Given the description of an element on the screen output the (x, y) to click on. 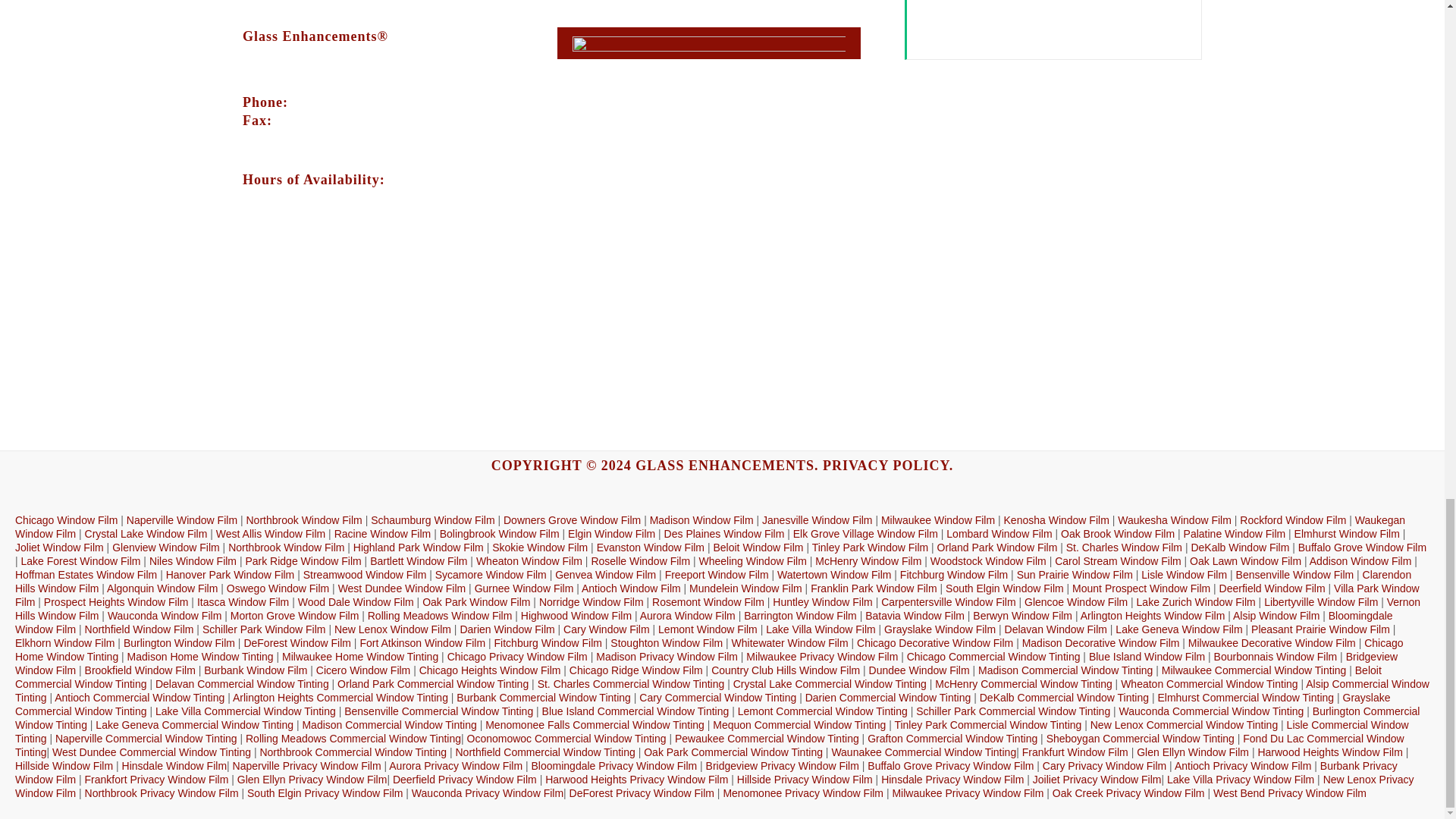
Milwaukee Window Film (937, 520)
Rockford Window Film (1292, 520)
Naperville Window Film (181, 520)
Kenosha Window Film (1056, 520)
Janesville Window Film (816, 520)
Schaumburg Window Film (433, 520)
Crystal Lake Window Film (146, 533)
Waukesha Window Film (1174, 520)
Glass Enhancements (723, 465)
Waukegan Window Film (709, 526)
Downers Grove Window Film (571, 520)
GLASS ENHANCEMENTS (723, 465)
Racine Window Film (382, 533)
Northbrook Window Film (303, 520)
PRIVACY POLICY. (887, 465)
